Given the description of an element on the screen output the (x, y) to click on. 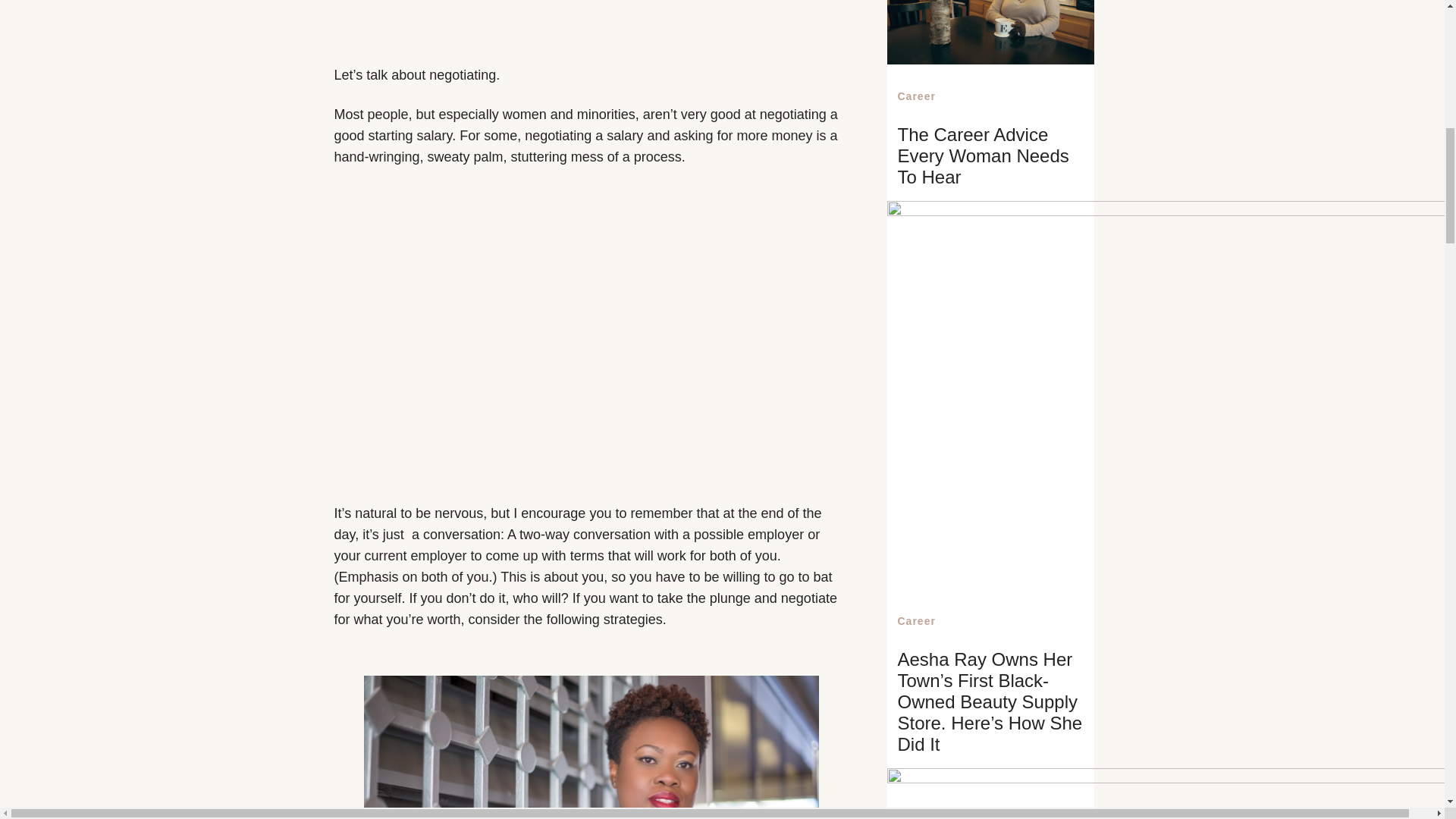
The Career Advice Every Woman Needs To Hear (983, 155)
Career (917, 96)
Career (917, 621)
